Given the description of an element on the screen output the (x, y) to click on. 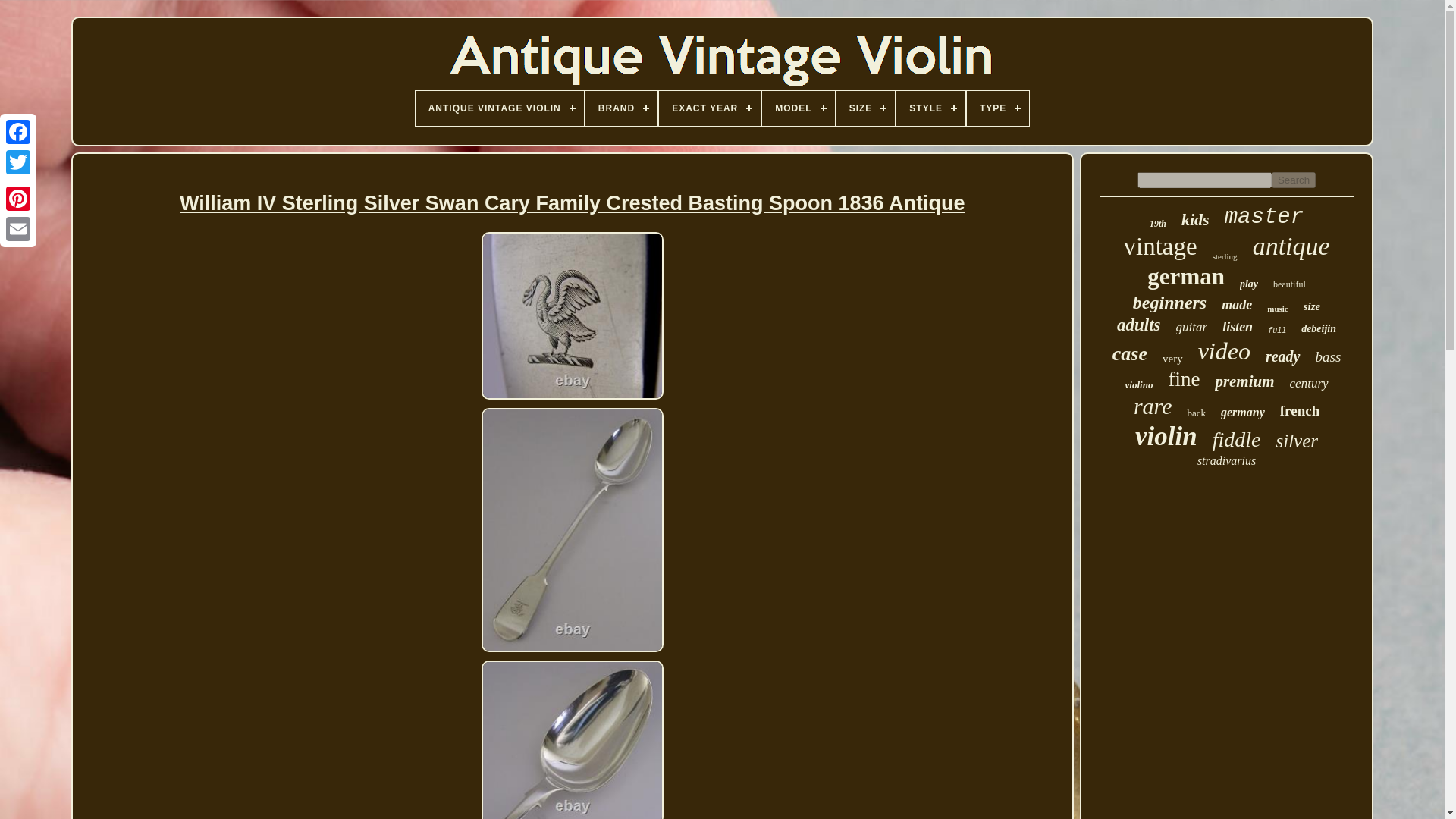
BRAND (621, 108)
EXACT YEAR (709, 108)
ANTIQUE VINTAGE VIOLIN (498, 108)
Search (1293, 179)
